Given the description of an element on the screen output the (x, y) to click on. 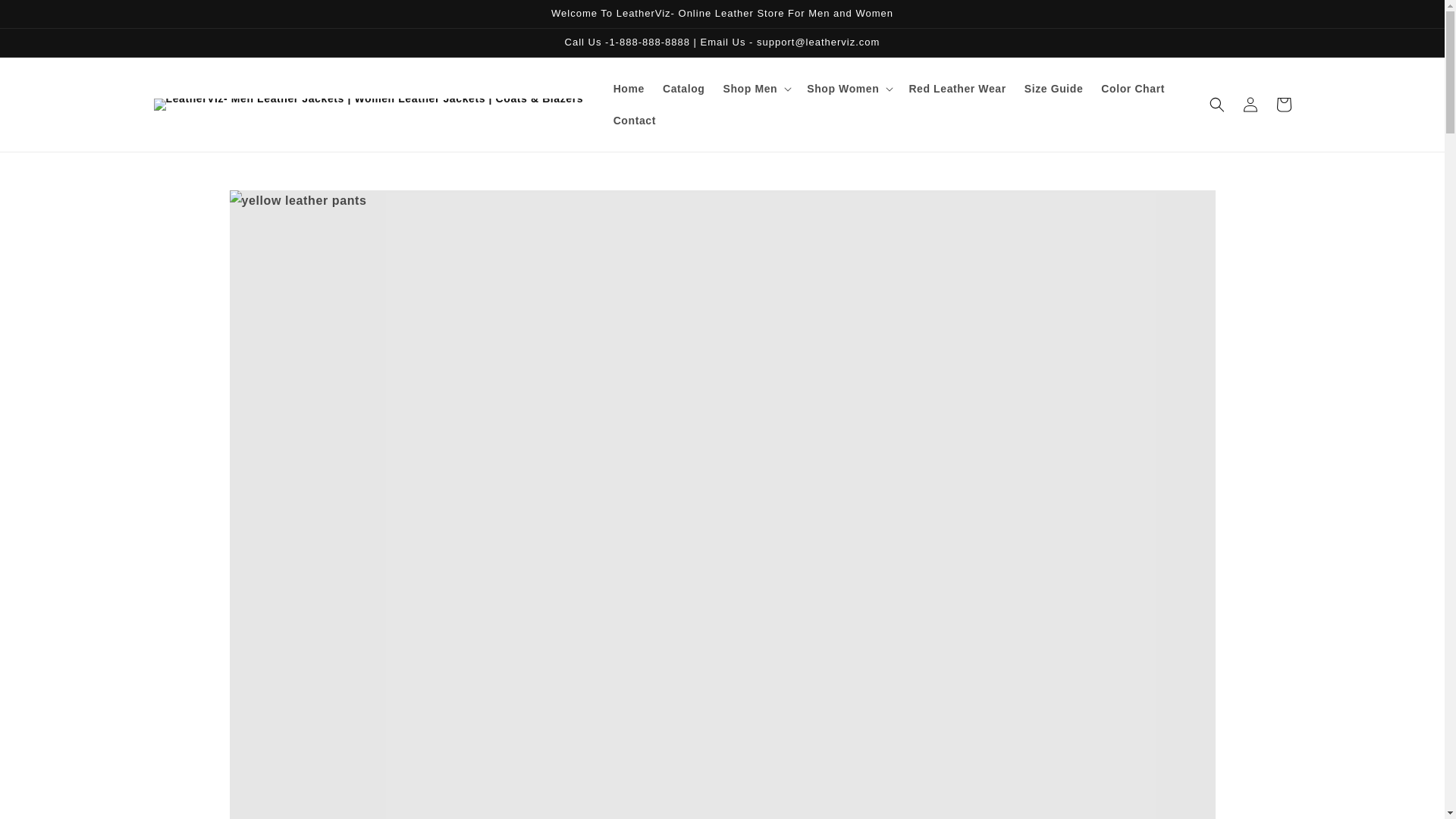
Catalog (683, 88)
Home (628, 88)
Skip to content (45, 16)
